Given the description of an element on the screen output the (x, y) to click on. 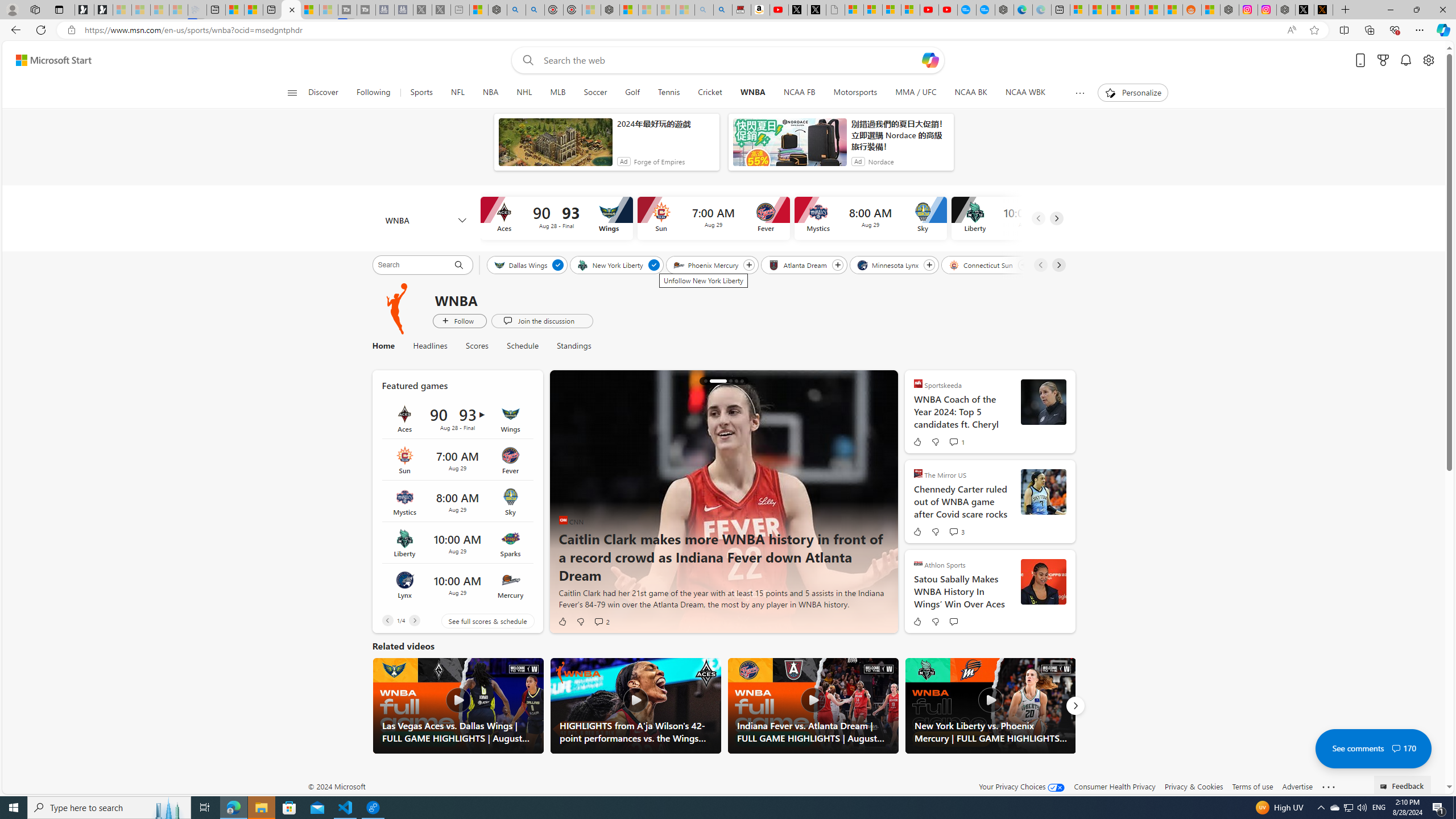
Feedback (1402, 784)
Schedule (522, 345)
Follow WNBA 2024 (459, 320)
Athlon Sports (917, 563)
View comments 3 Comment (953, 531)
Aces 90 vs Wings 93Final Date Aug 28 (456, 418)
Advertise (1297, 786)
Lynx vs Mercury Time 10:00 AM Date Aug 29 (456, 584)
Minnesota Lynx (888, 264)
NHL (524, 92)
